Given the description of an element on the screen output the (x, y) to click on. 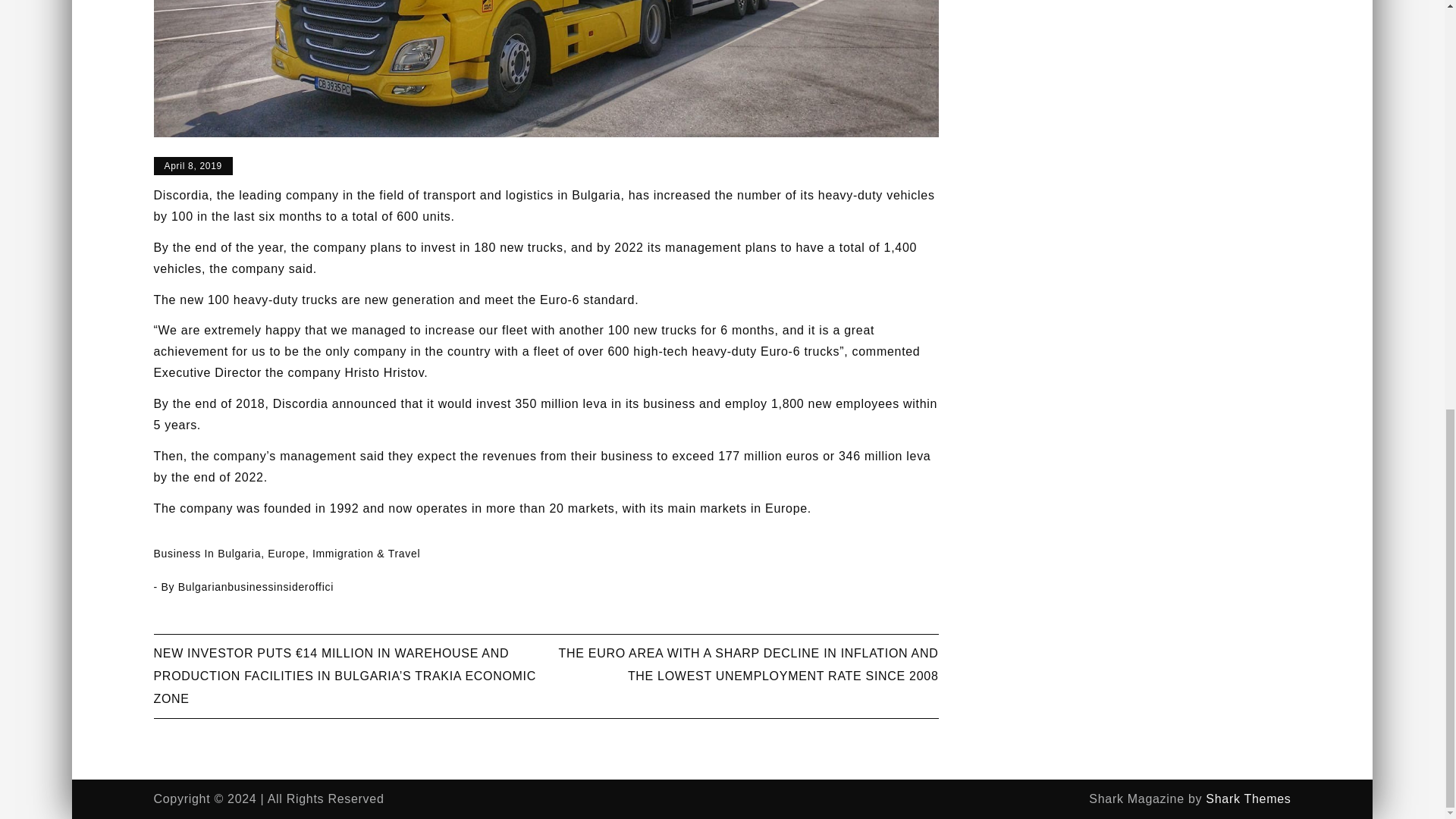
Business In Bulgaria (206, 553)
Shark Themes (1247, 798)
April 8, 2019 (191, 166)
Bulgarianbusinessinsideroffici (255, 586)
Europe (285, 553)
